Given the description of an element on the screen output the (x, y) to click on. 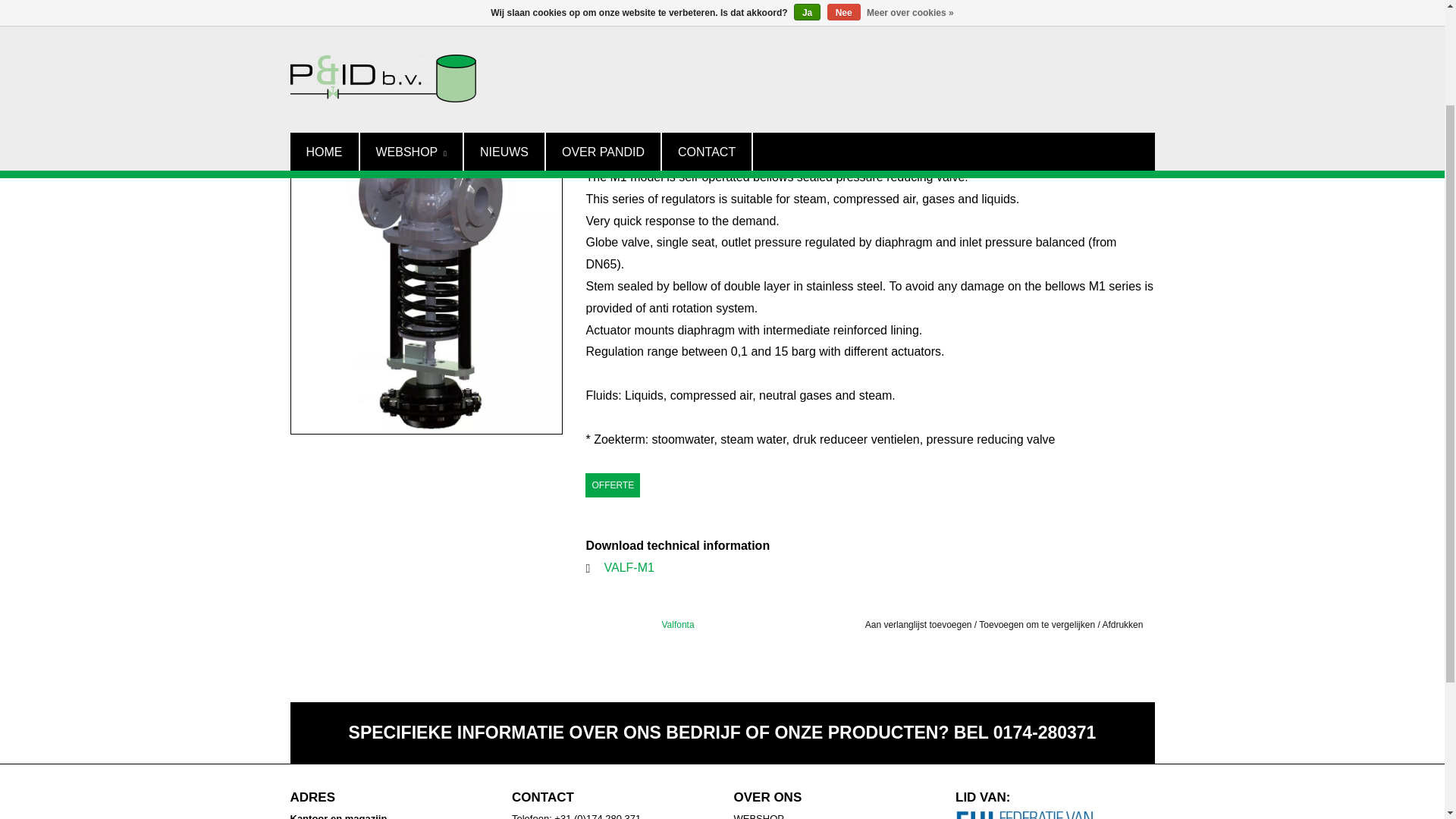
Afdrukken (1122, 624)
Toevoegen om te vergelijken (1037, 624)
CONTACT (706, 18)
WEBSHOP (410, 18)
OFFERTE (612, 485)
OVER PANDID (603, 18)
Aan verlanglijst toevoegen (918, 624)
HOME (303, 60)
Webshop (410, 18)
VALF-M1 (628, 567)
HOME (323, 18)
PRESSURE REDUCING VALVE MODEL M1 (415, 60)
NIEUWS (504, 18)
Valfonta (677, 624)
